Given the description of an element on the screen output the (x, y) to click on. 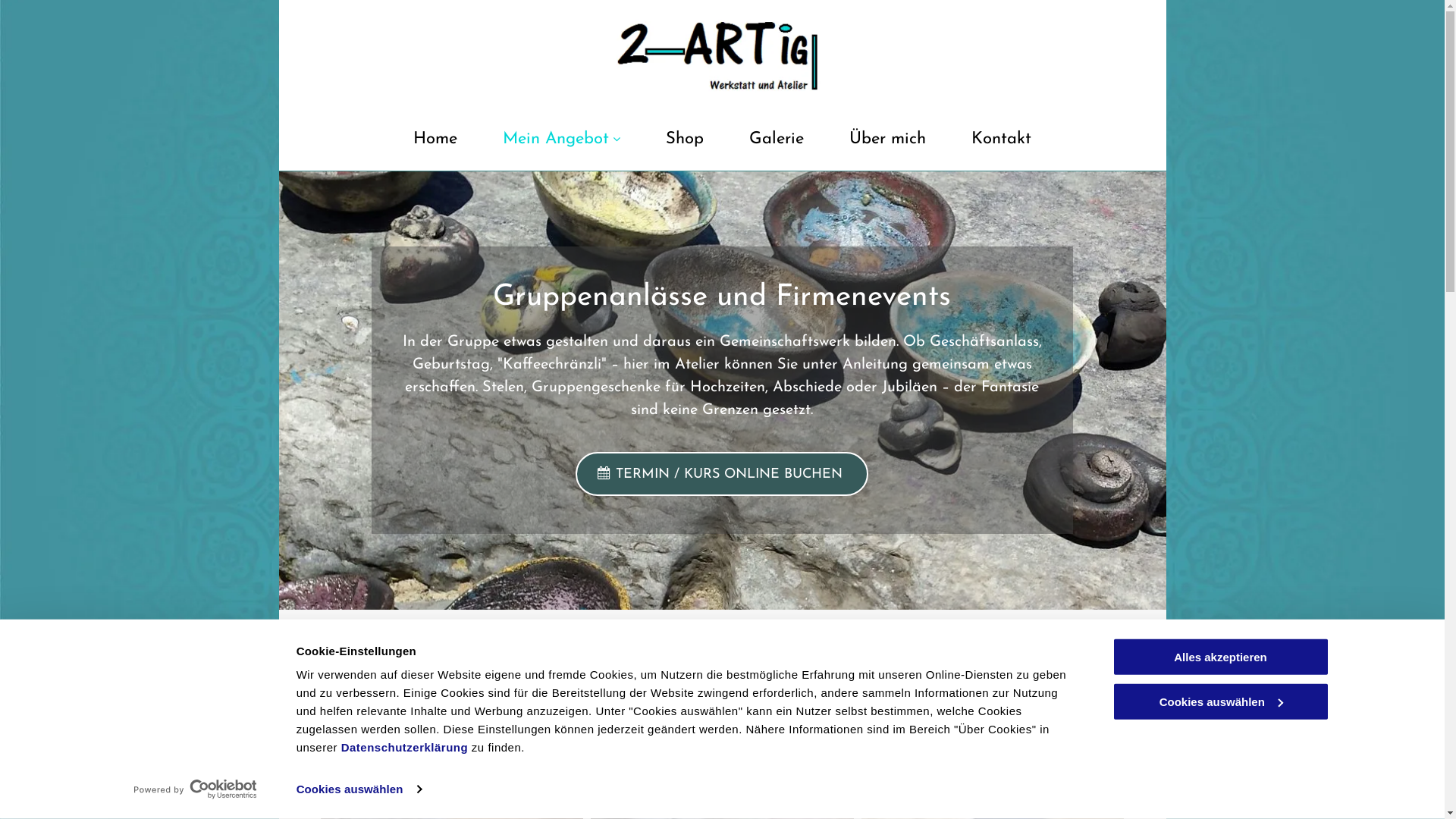
Kontakt Element type: text (1001, 144)
Alles akzeptieren Element type: text (1219, 656)
Galerie Element type: text (776, 144)
Mein Angebot Element type: text (561, 144)
Shop Element type: text (684, 144)
TERMIN / KURS ONLINE BUCHEN Element type: text (721, 473)
Home Element type: text (434, 144)
